Given the description of an element on the screen output the (x, y) to click on. 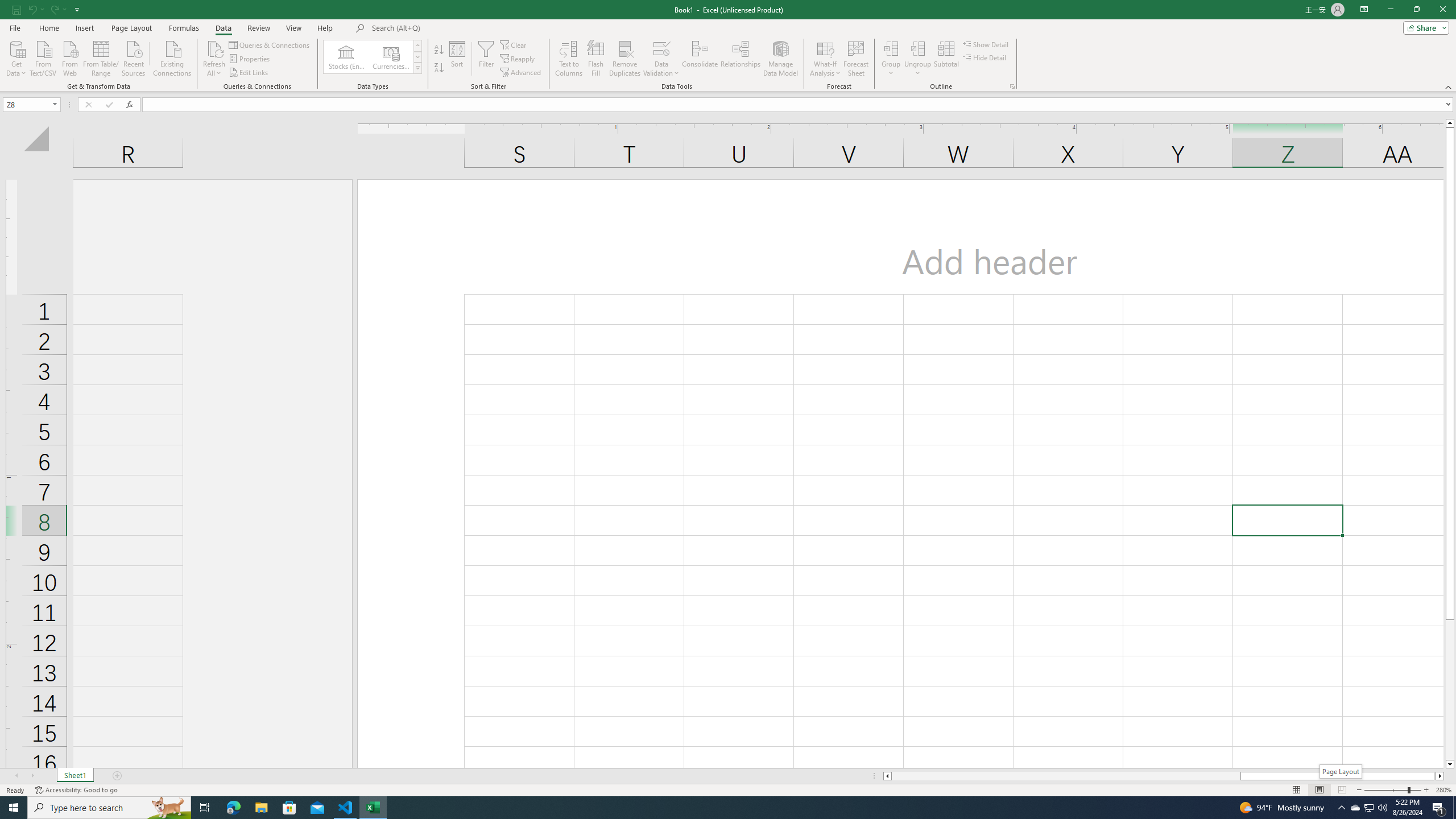
Consolidate... (700, 58)
